Given the description of an element on the screen output the (x, y) to click on. 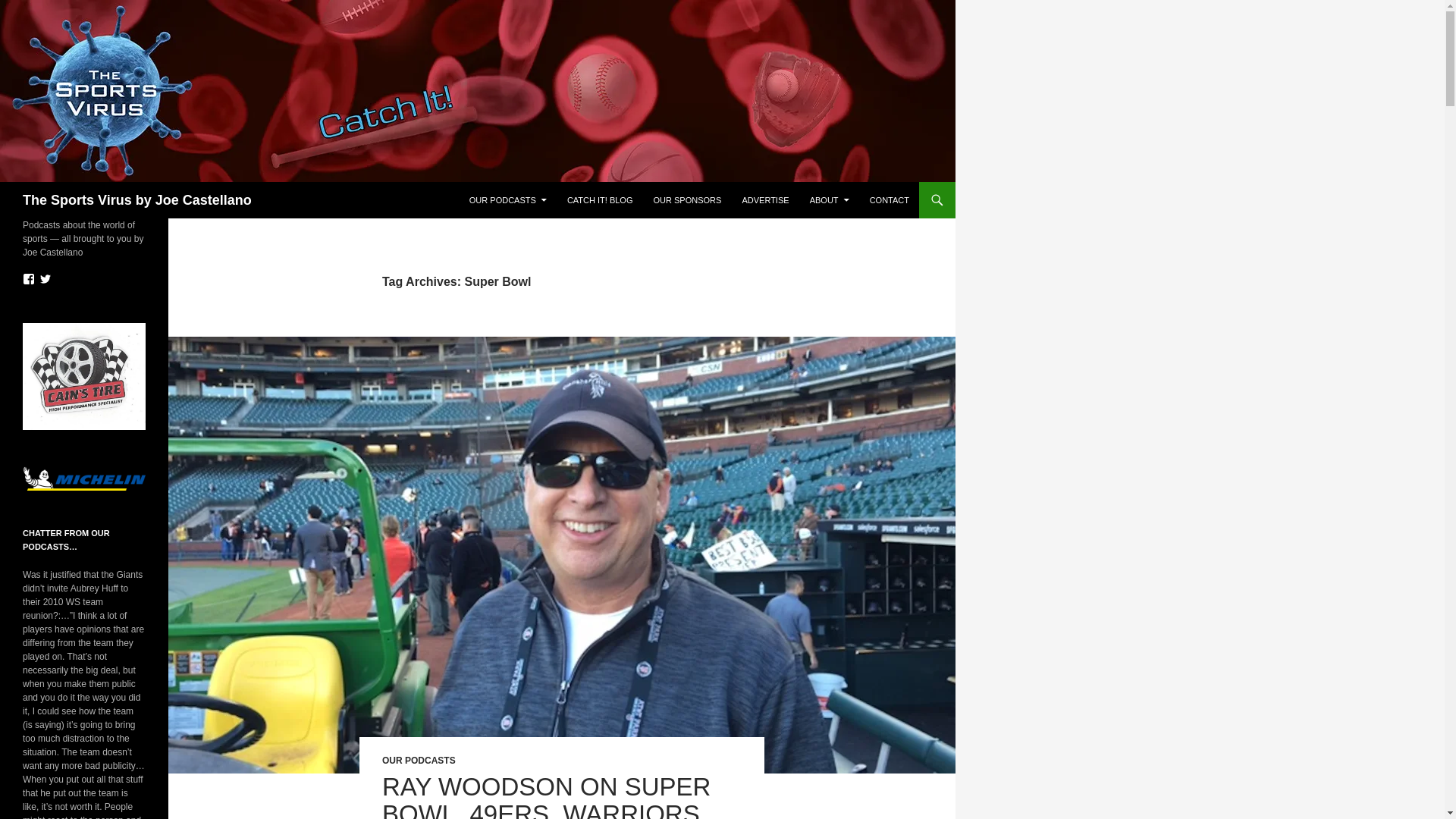
OUR PODCASTS (508, 199)
RAY WOODSON ON SUPER BOWL, 49ERS, WARRIORS AND GIANTS (545, 796)
CATCH IT! BLOG (599, 199)
OUR PODCASTS (418, 760)
ABOUT (829, 199)
OUR SPONSORS (687, 199)
CONTACT (889, 199)
ADVERTISE (764, 199)
